Given the description of an element on the screen output the (x, y) to click on. 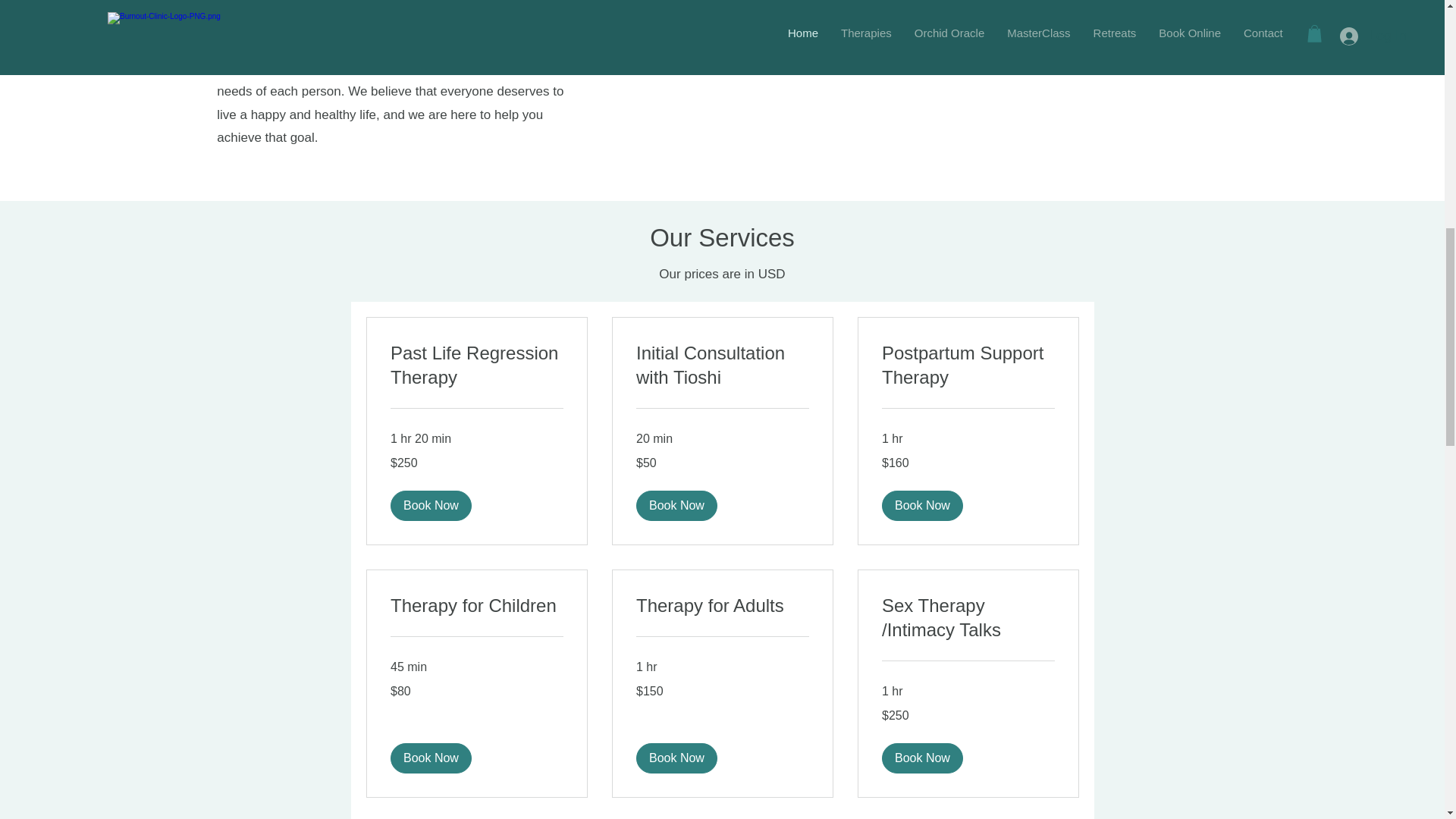
Book Now (675, 757)
Book Now (430, 757)
Past Life Regression Therapy (476, 365)
Book Now (675, 505)
Book Now (921, 505)
Book Now (921, 757)
Initial Consultation with Tioshi (721, 365)
Therapy for Adults (721, 605)
Therapy for Children (476, 605)
Postpartum Support Therapy (967, 365)
